Given the description of an element on the screen output the (x, y) to click on. 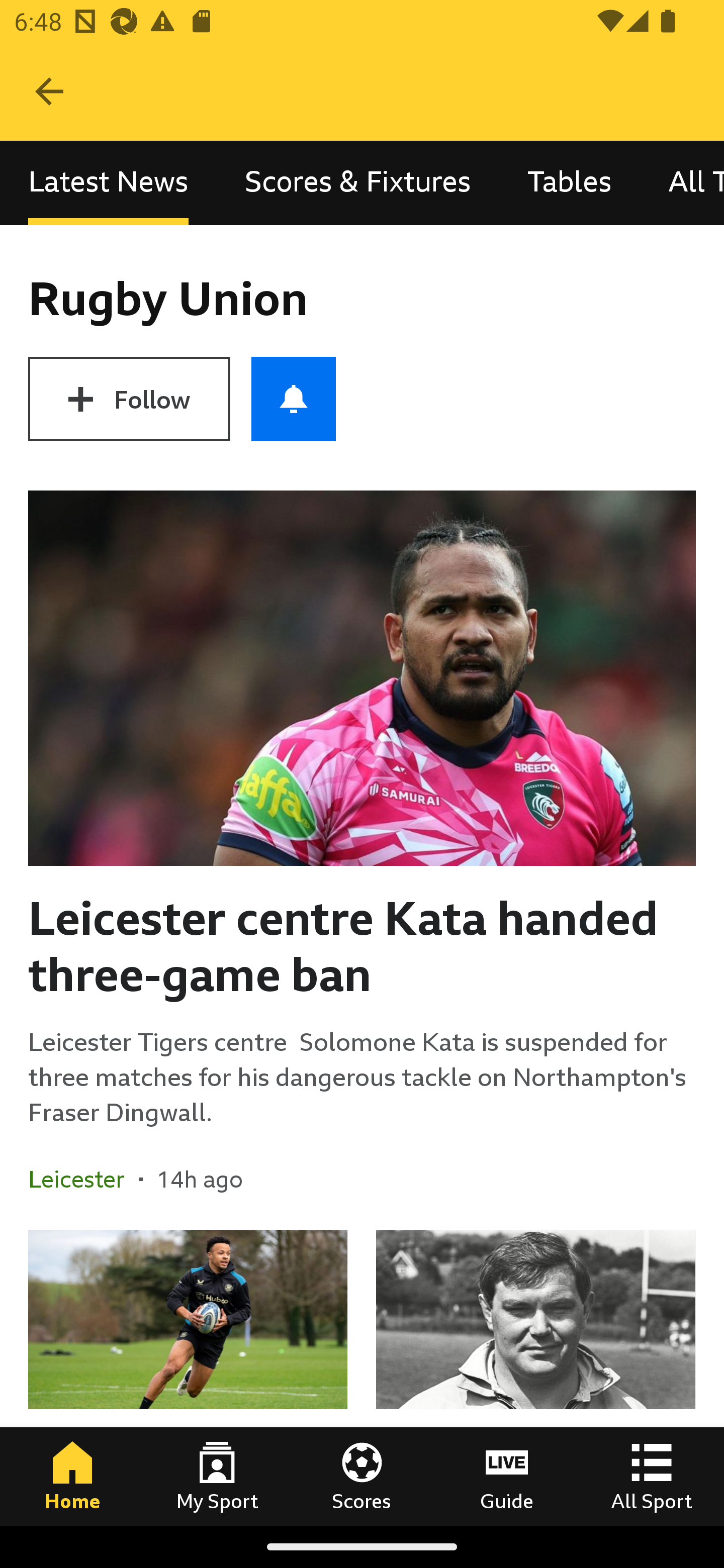
Navigate up (49, 91)
Latest News, selected Latest News (108, 183)
Scores & Fixtures (357, 183)
Tables (569, 183)
Follow Rugby Union Follow (129, 398)
Push notifications for Rugby Union (293, 398)
Leicester In the section Leicester (83, 1178)
Bath sign ex-St Helens wing Grace for 2024-25 (188, 1377)
My Sport (216, 1475)
Scores (361, 1475)
Guide (506, 1475)
All Sport (651, 1475)
